Given the description of an element on the screen output the (x, y) to click on. 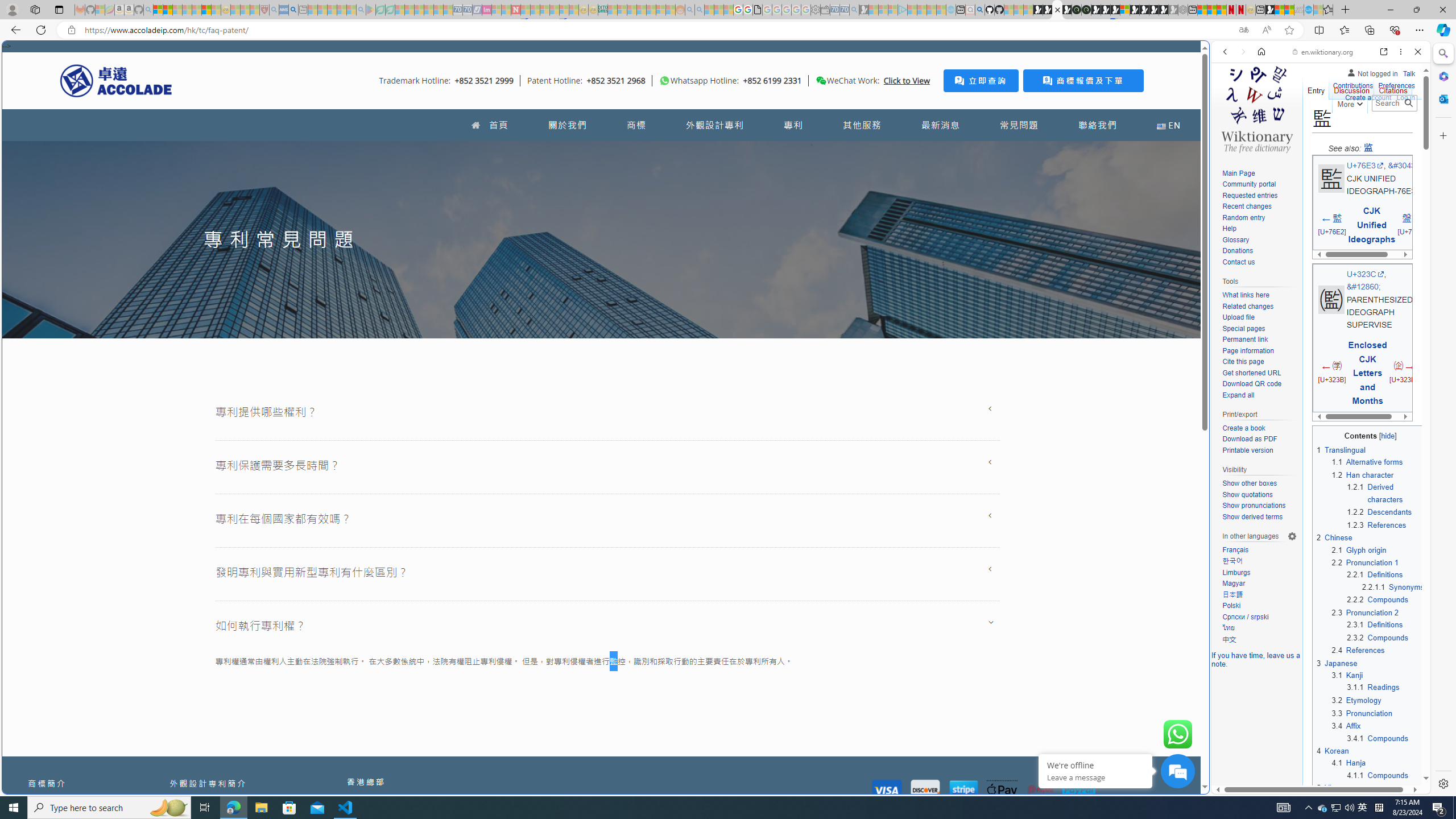
Contact us (1238, 261)
Search Wiktionary (1393, 103)
Accolade IP HK Logo (116, 80)
